Given the description of an element on the screen output the (x, y) to click on. 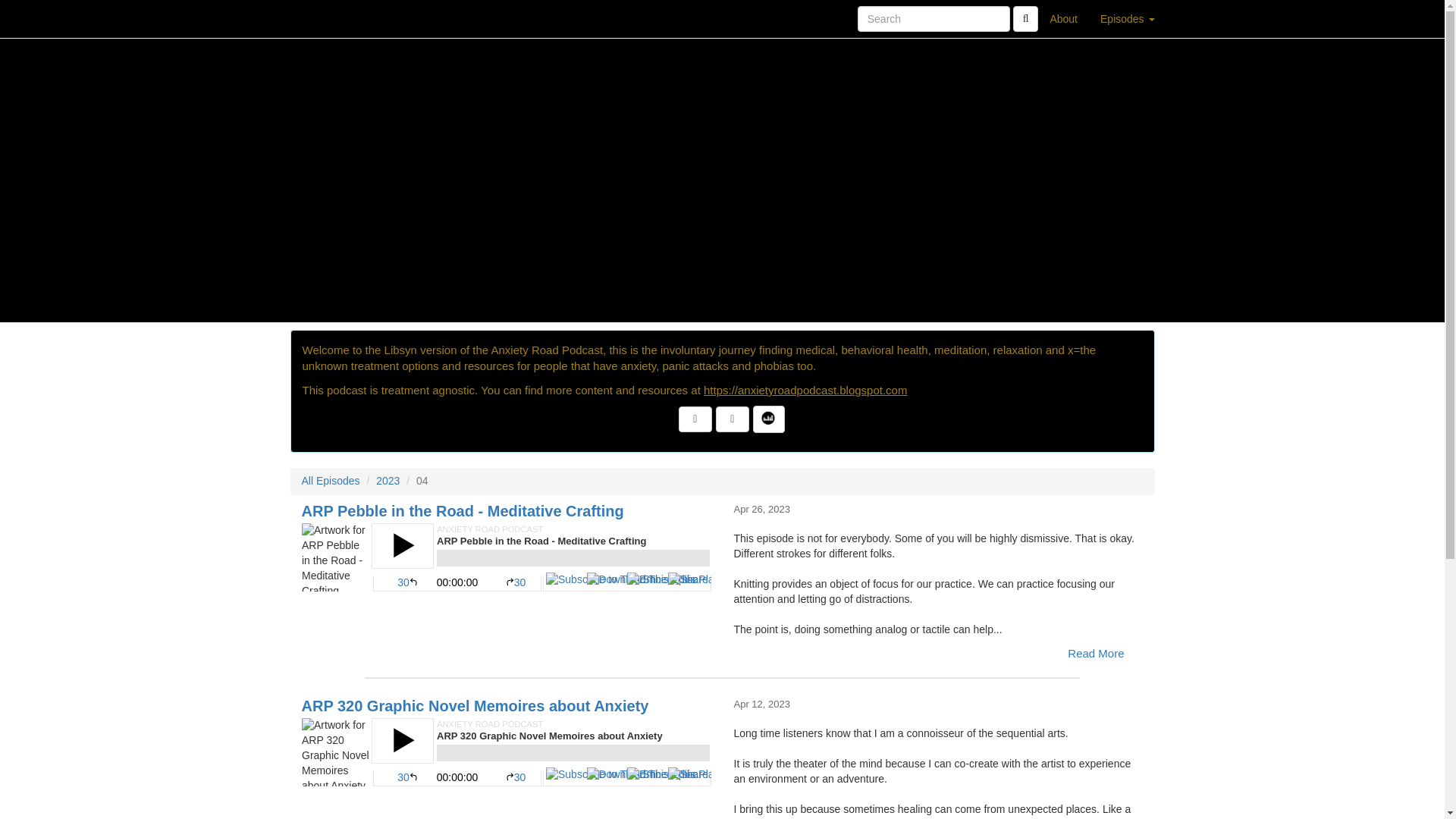
Episodes (1127, 18)
ARP 320 Graphic Novel Memoires about Anxiety (506, 752)
About (1063, 18)
ARP Pebble in the Road - Meditative Crafting (506, 557)
Official Blog of the Anxiety Road Podcast (805, 390)
Home Page (320, 18)
